Given the description of an element on the screen output the (x, y) to click on. 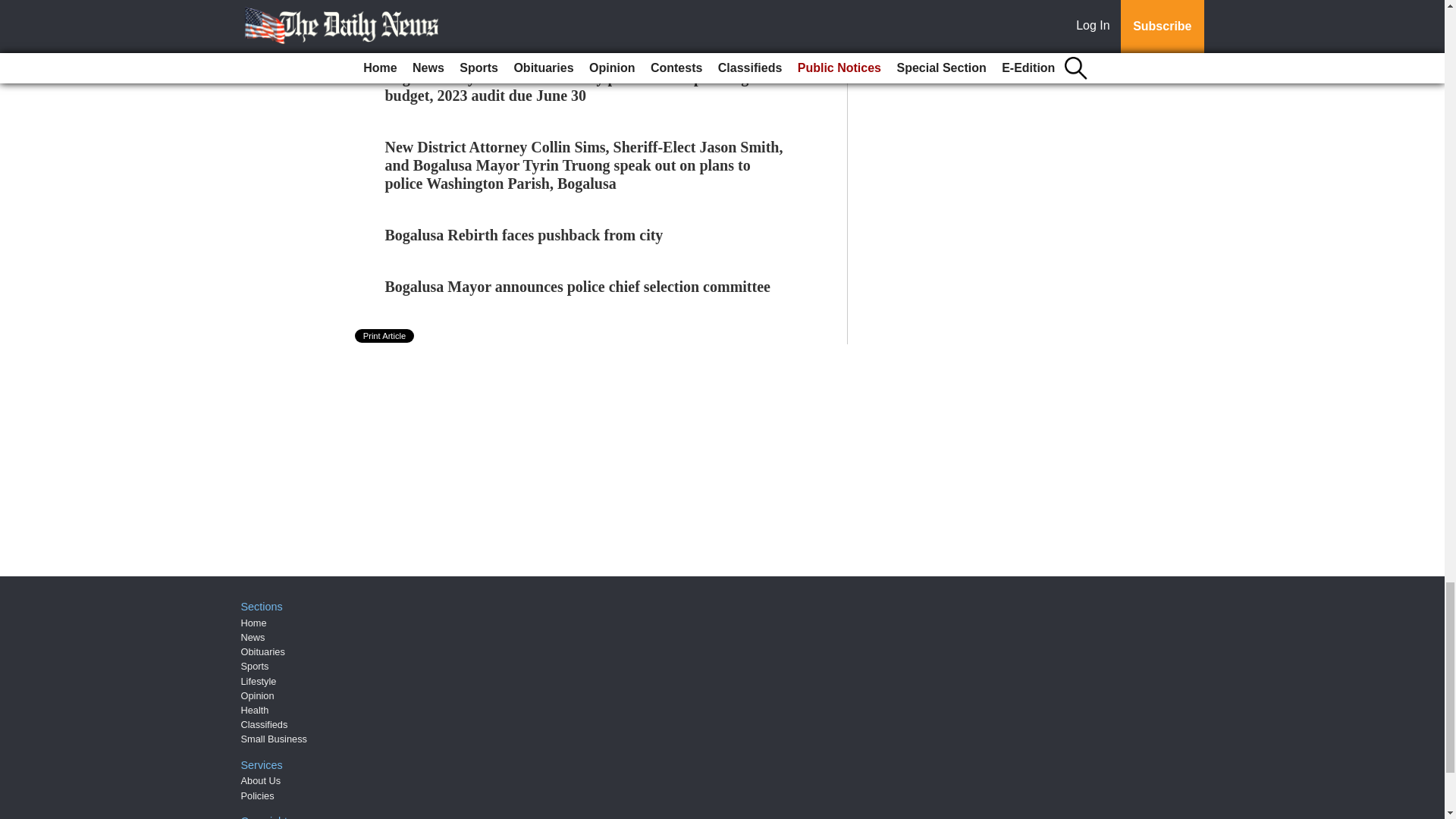
Print Article (384, 336)
About Us (261, 780)
Bogalusa Rebirth faces pushback from city (524, 234)
Bogalusa Rebirth faces pushback from city (524, 234)
Sports (255, 665)
Opinion (258, 695)
News (252, 636)
Obituaries (263, 651)
Policies (258, 795)
Small Business (274, 738)
Bogalusa Mayor announces police chief selection committee (577, 286)
Lifestyle (258, 681)
